Given the description of an element on the screen output the (x, y) to click on. 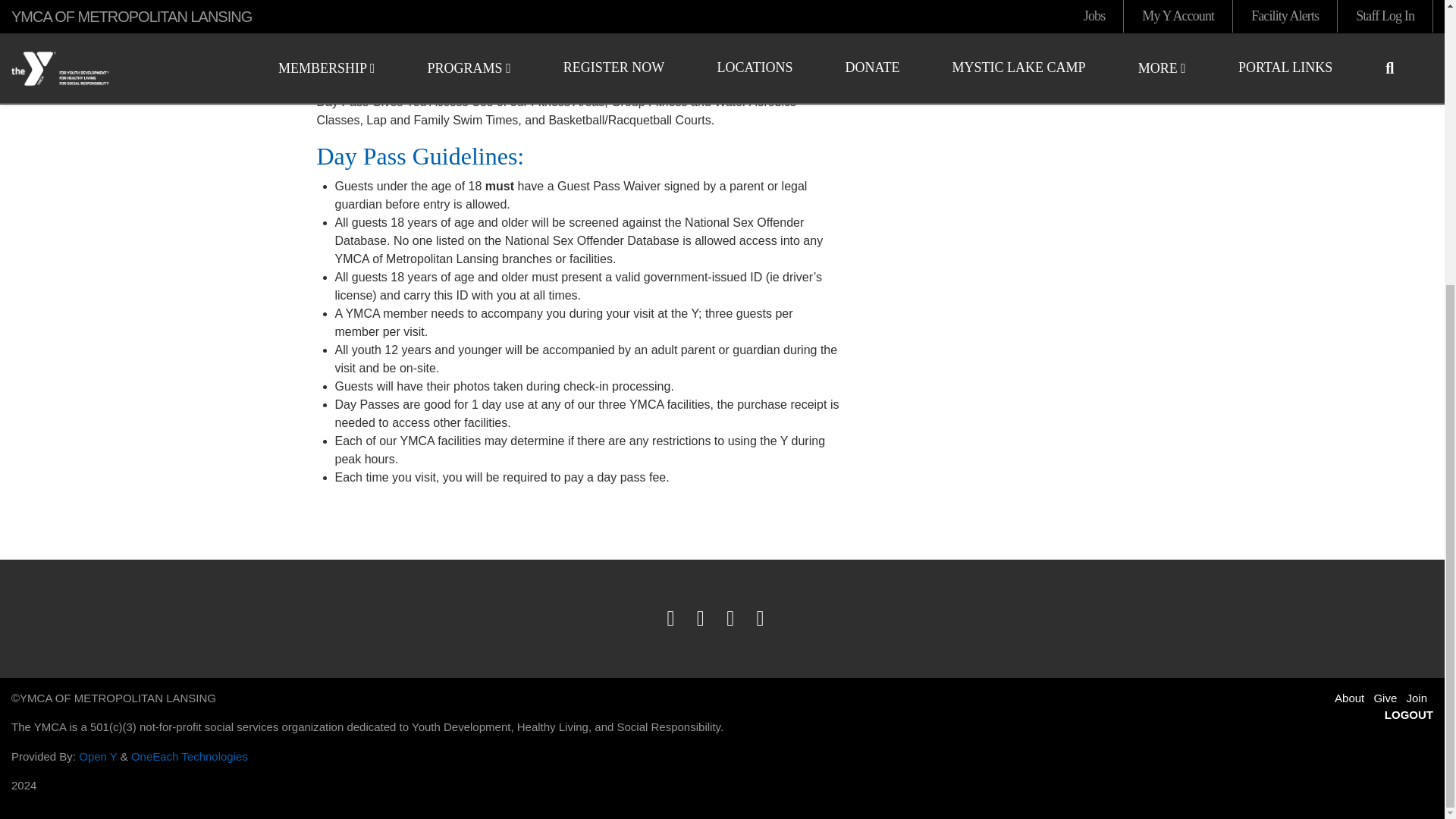
Go to YMCA Instagram (767, 618)
Go to YMCA Facebook (676, 618)
Go to YMCA Youtube channel (737, 618)
Logout (1408, 714)
Go to YMCA Twitter (707, 618)
